Given the description of an element on the screen output the (x, y) to click on. 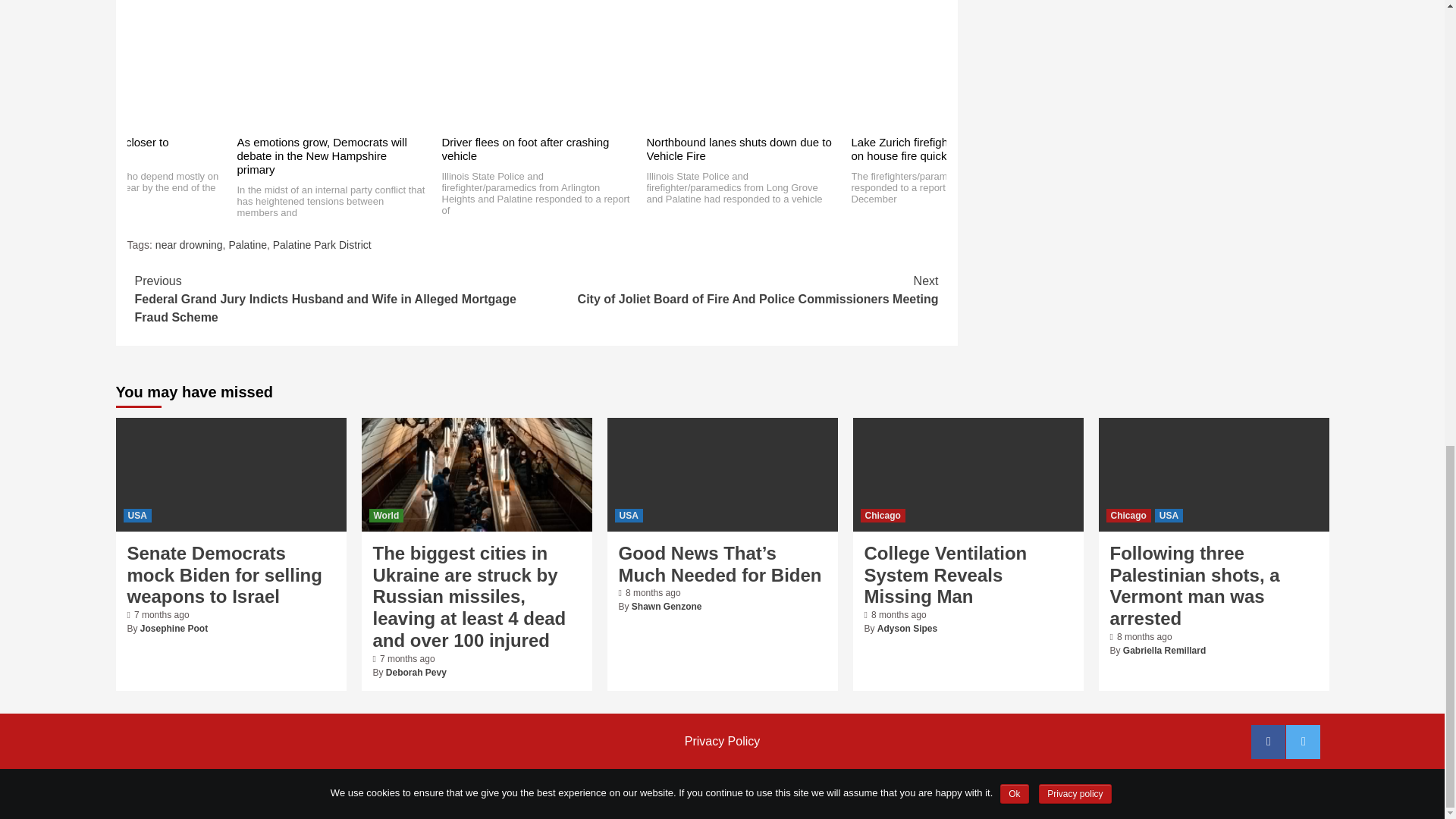
Driver flees on foot after crashing vehicle (524, 148)
Chicago is getting closer to eliminating tip pay (100, 148)
Lake Zurich firefighters take control on house fire quickly (938, 148)
Northbound lanes shuts down due to Vehicle Fire (738, 148)
